Given the description of an element on the screen output the (x, y) to click on. 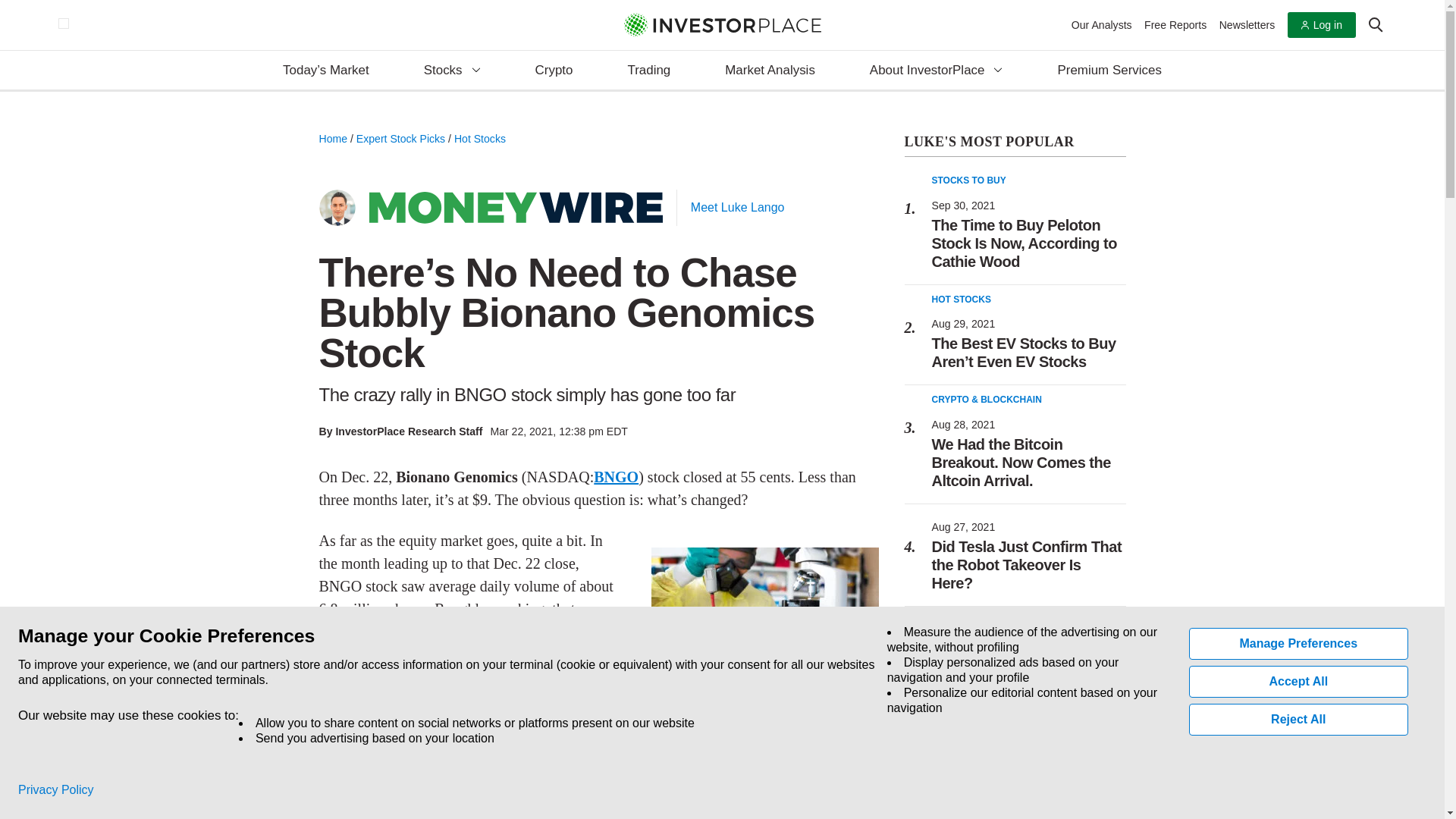
Accept All (1299, 681)
Log in (1321, 25)
Our Analysts (1101, 24)
Newsletters (1247, 24)
Reject All (1299, 719)
Free Reports (1175, 24)
View profile of InvestorPlace Research Staff (407, 431)
Stocks (452, 70)
Privacy Policy (55, 789)
View Most Read Content (1014, 142)
